Given the description of an element on the screen output the (x, y) to click on. 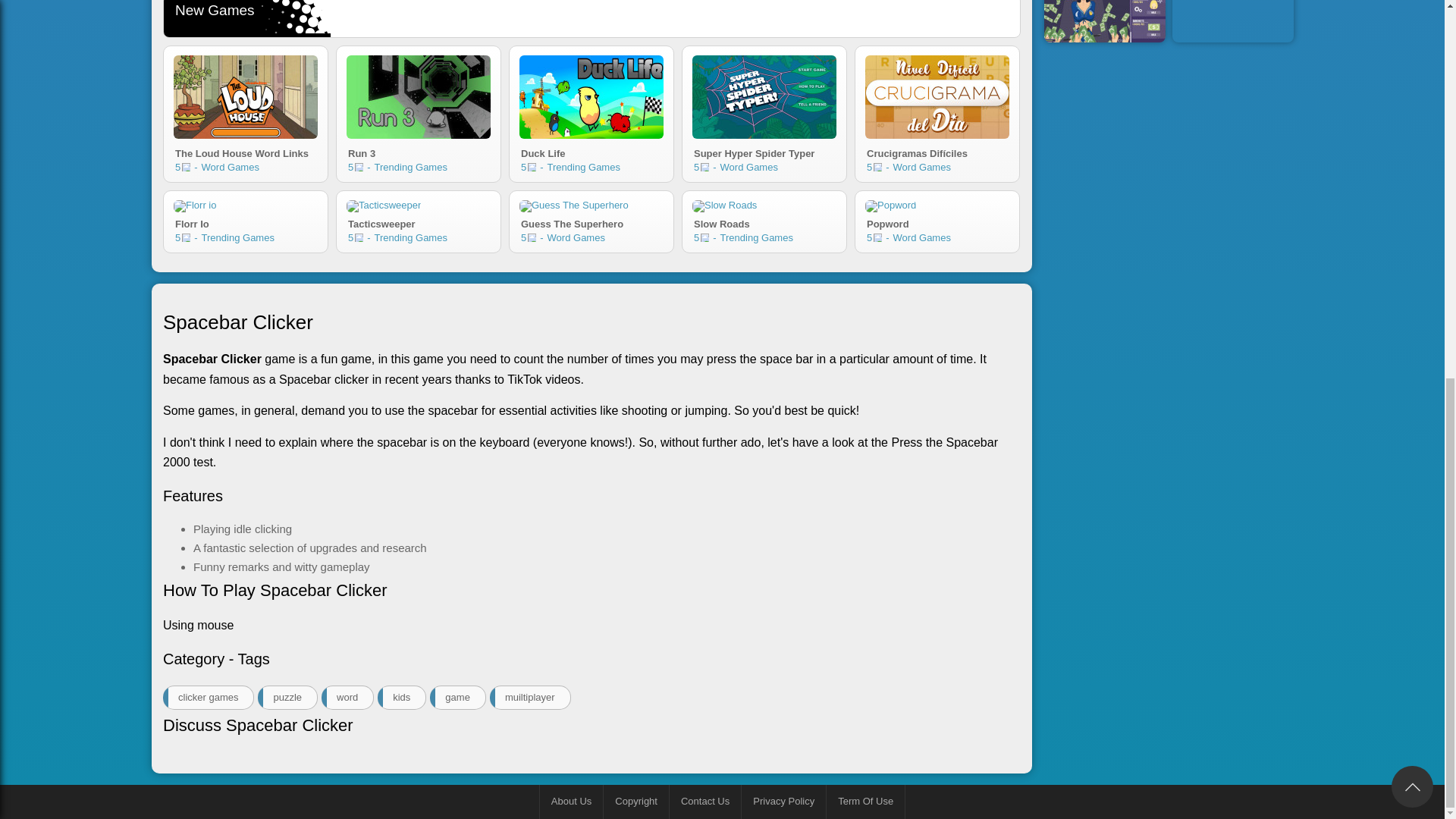
Florr io (194, 205)
numrate (186, 166)
Guess The Superhero (573, 205)
numrate (764, 221)
Slow Roads (186, 237)
clicker games (418, 221)
